Given the description of an element on the screen output the (x, y) to click on. 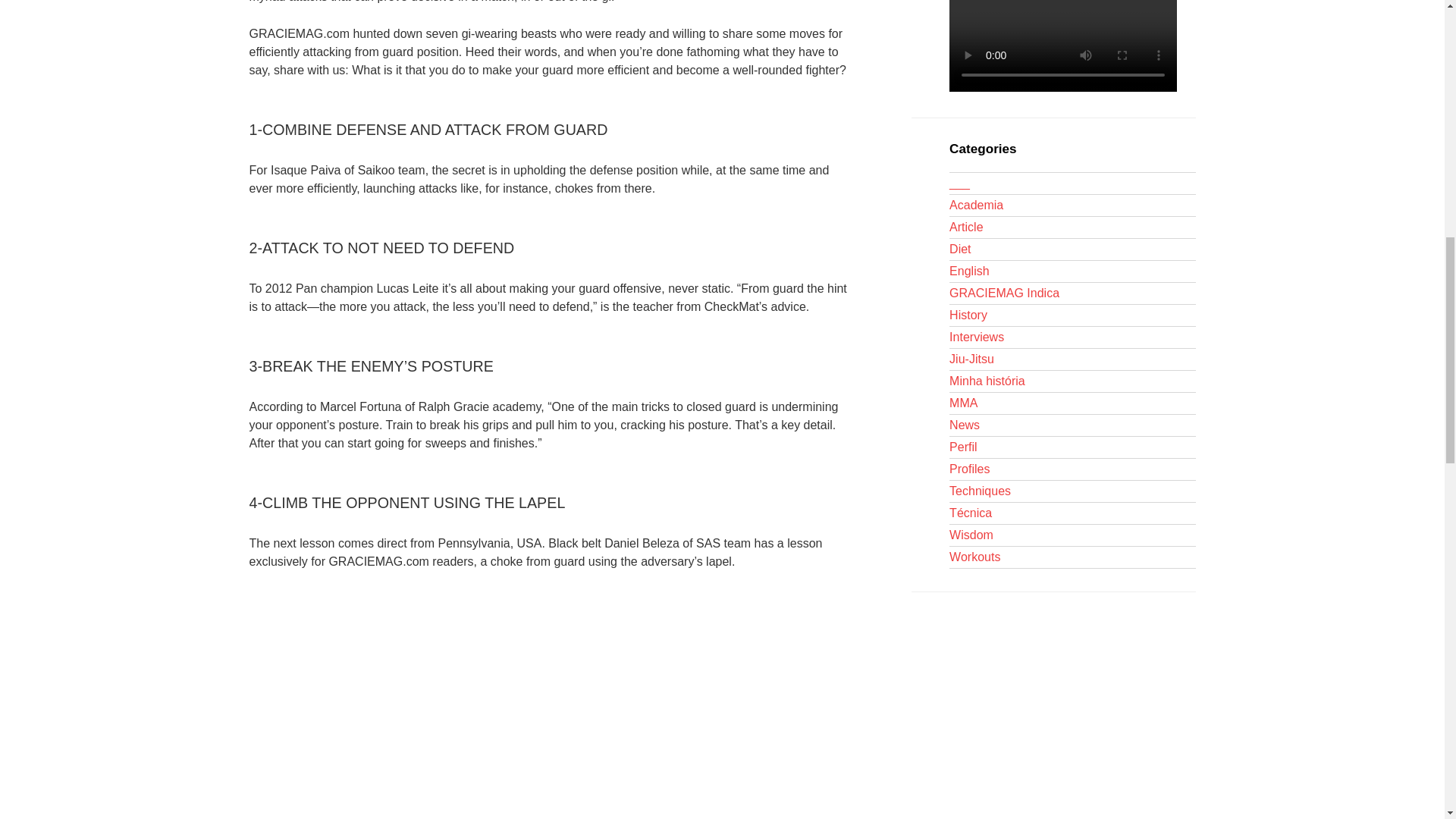
Full Guard Attacks by Daniel Beleza (494, 704)
